Given the description of an element on the screen output the (x, y) to click on. 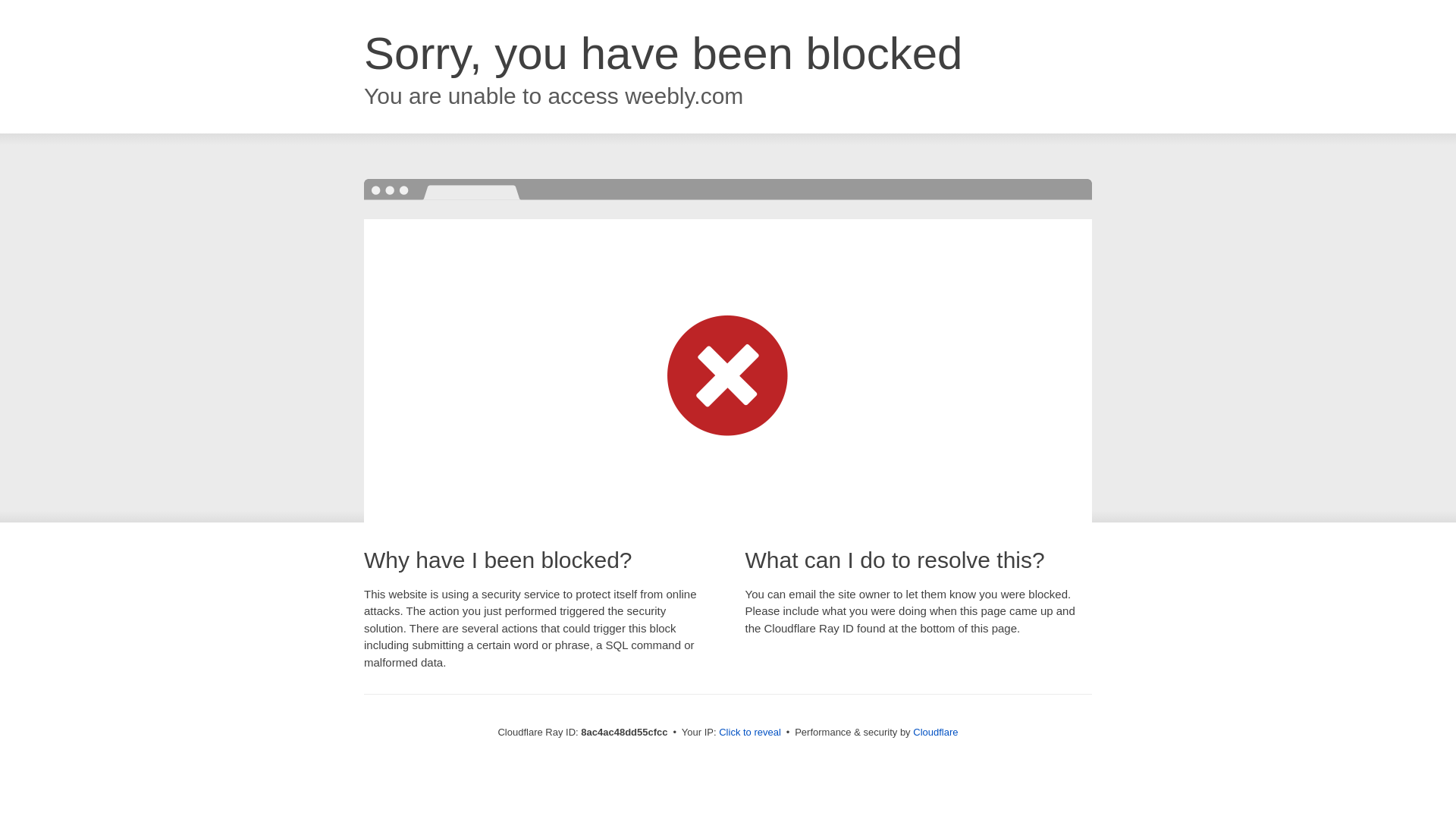
Cloudflare (935, 731)
Click to reveal (749, 732)
